Given the description of an element on the screen output the (x, y) to click on. 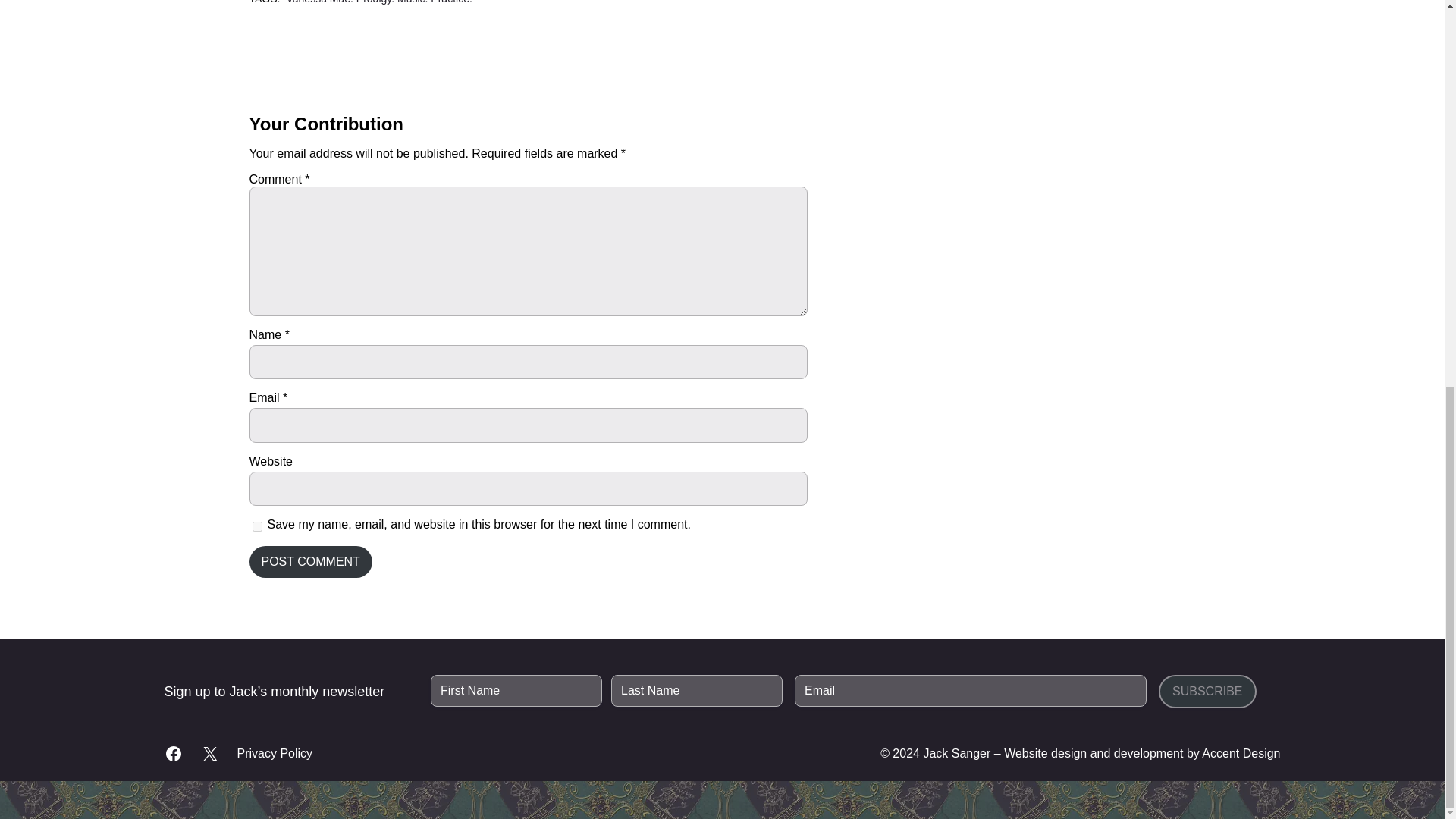
Vanessa Mae. Prodigy. Music. Practice. (378, 2)
Post Comment (309, 562)
Facebook (172, 753)
SUBSCRIBE (1206, 691)
X (209, 753)
Post Comment (309, 562)
SUBSCRIBE (1206, 691)
Website design and development by Accent Design (1141, 753)
Privacy Policy (274, 753)
yes (256, 526)
